Given the description of an element on the screen output the (x, y) to click on. 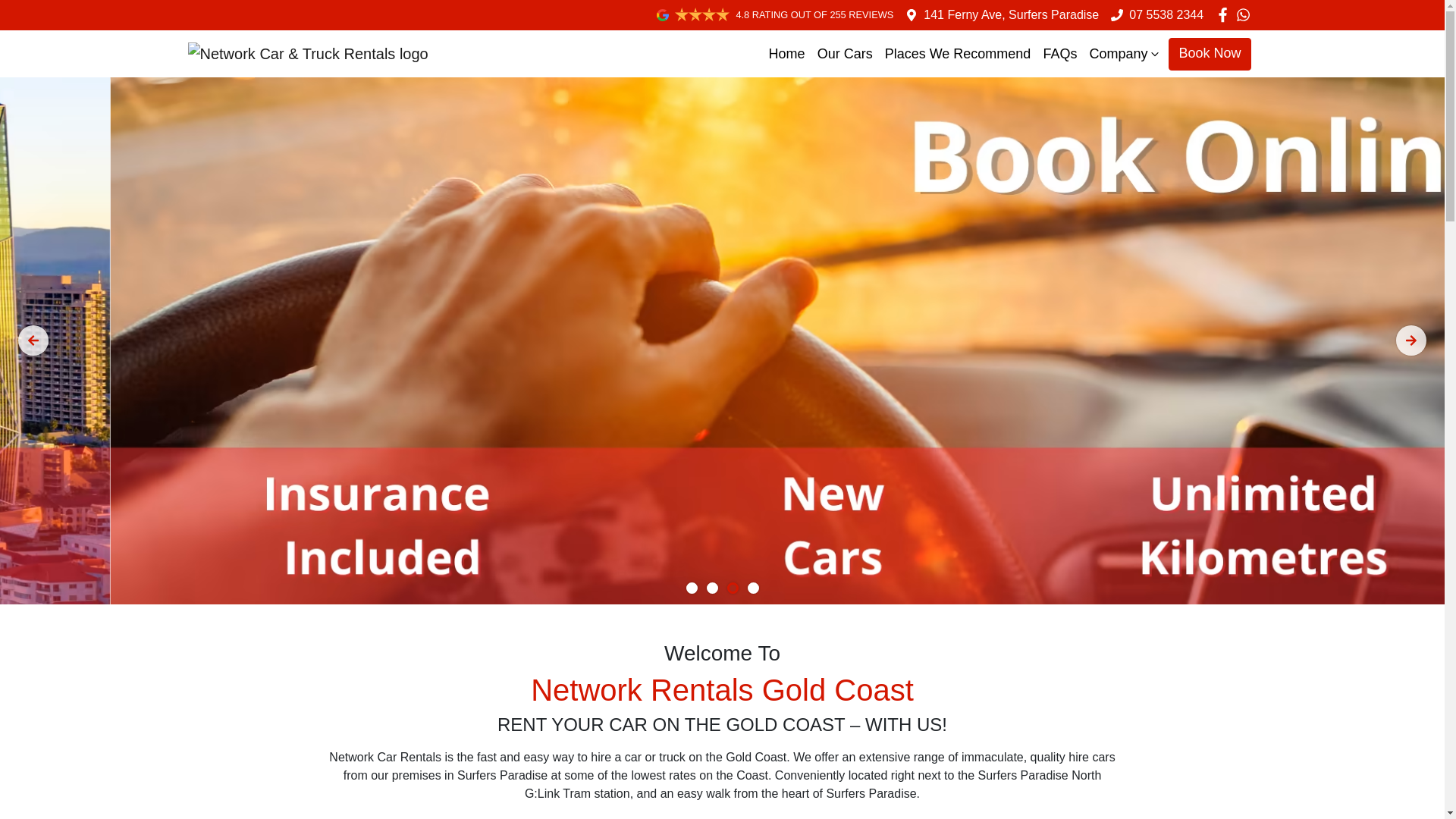
FAQs Element type: text (1059, 53)
Book Now Element type: text (1209, 53)
Places We Recommend Element type: text (957, 53)
07 5538 2344 Element type: text (1166, 14)
Our Cars Element type: text (844, 53)
Company Element type: text (1125, 53)
Home Element type: text (786, 53)
141 Ferny Ave, Surfers Paradise Element type: text (1010, 14)
